Given the description of an element on the screen output the (x, y) to click on. 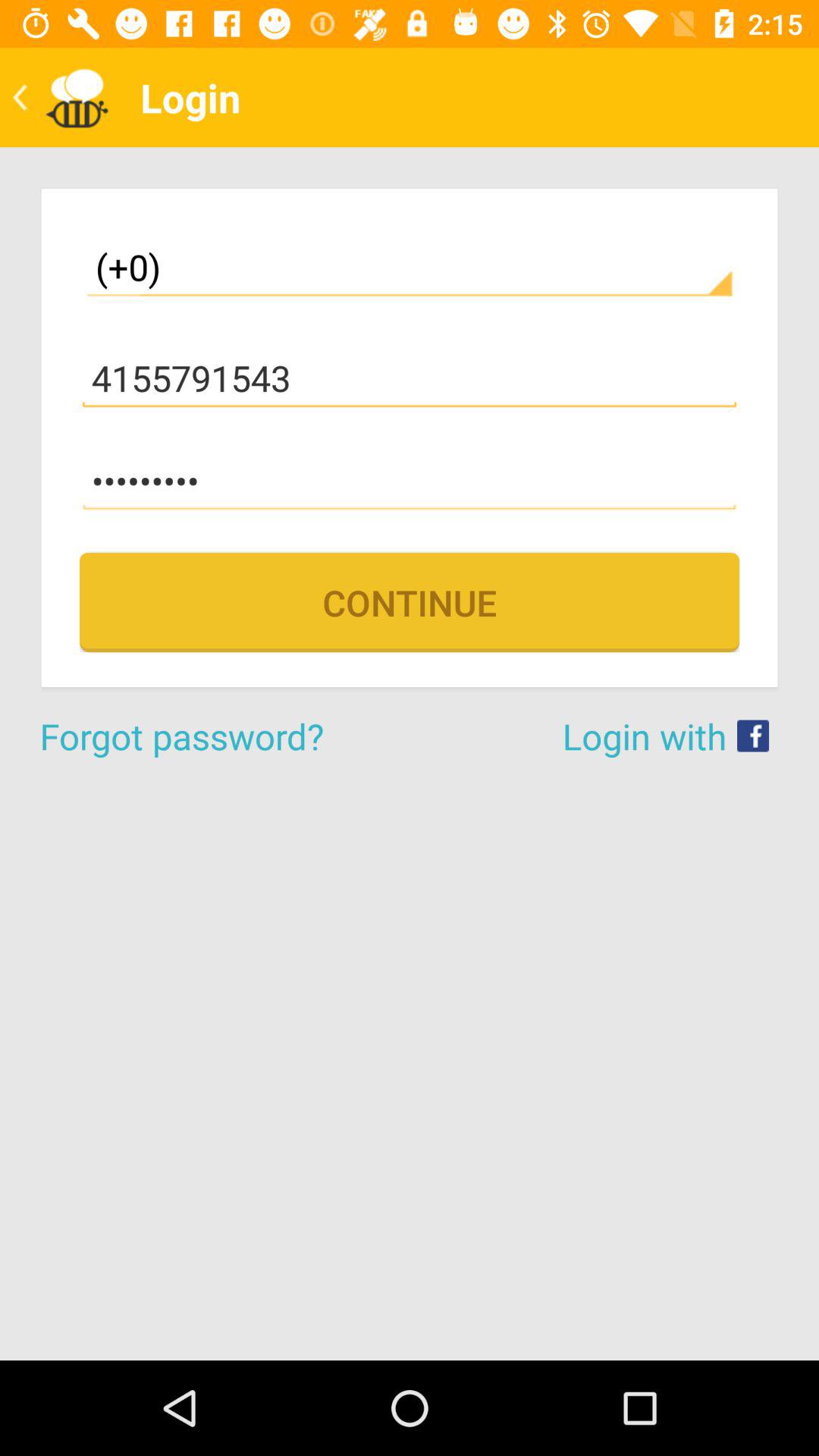
open forgot password? icon (224, 736)
